Given the description of an element on the screen output the (x, y) to click on. 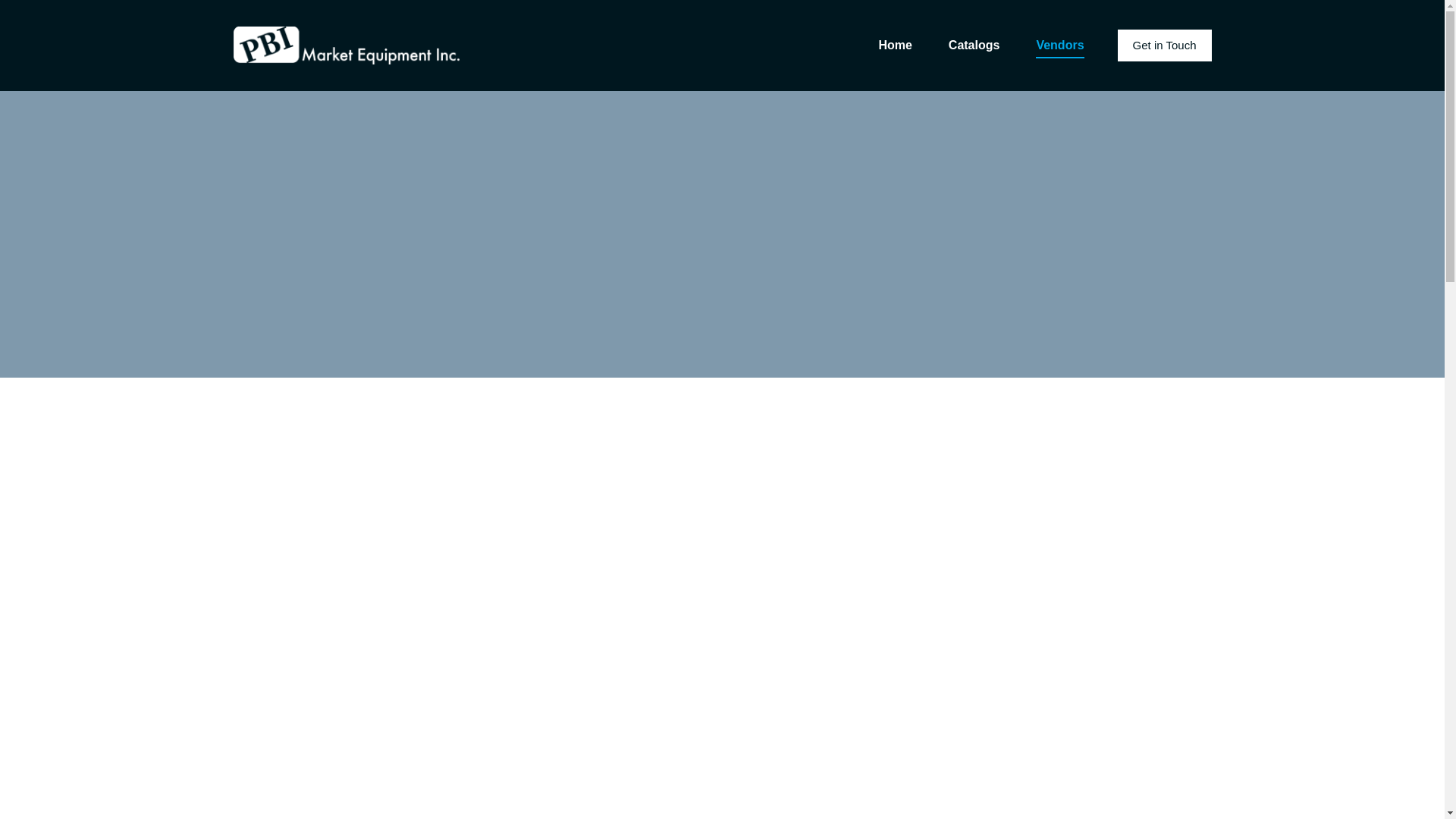
Skip to content (15, 7)
Catalogs (973, 45)
Vendors (1059, 45)
Home (895, 45)
Get in Touch (1164, 45)
